Given the description of an element on the screen output the (x, y) to click on. 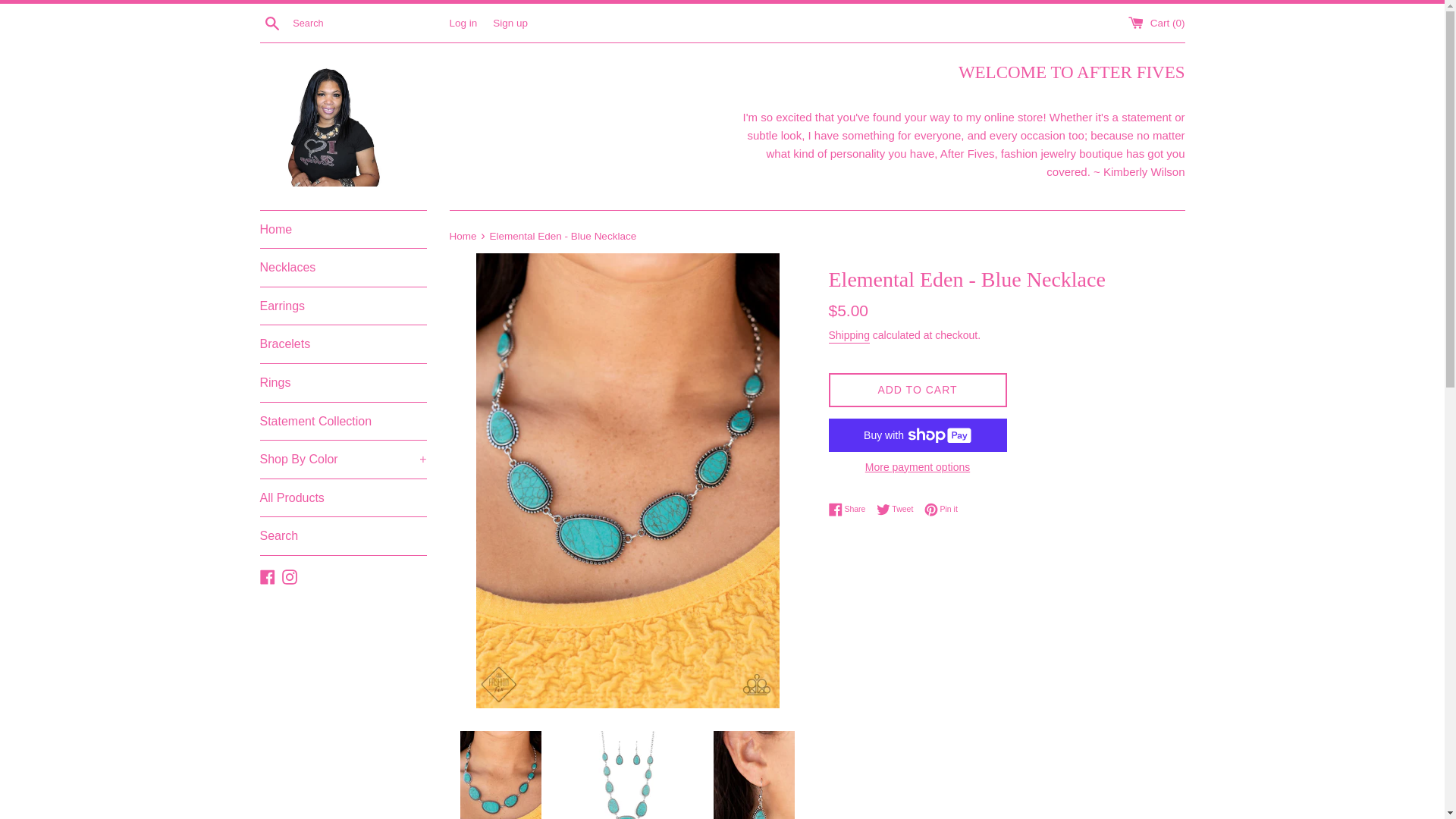
After Fives on Instagram (289, 575)
After Fives on Facebook (267, 575)
All Products (342, 497)
Home (463, 235)
Search (342, 535)
Log in (462, 21)
Instagram (289, 575)
Sign up (510, 21)
Home (342, 229)
Tweet on Twitter (898, 509)
Pin on Pinterest (941, 509)
Earrings (342, 306)
Search (271, 21)
Rings (342, 382)
Statement Collection (342, 421)
